Given the description of an element on the screen output the (x, y) to click on. 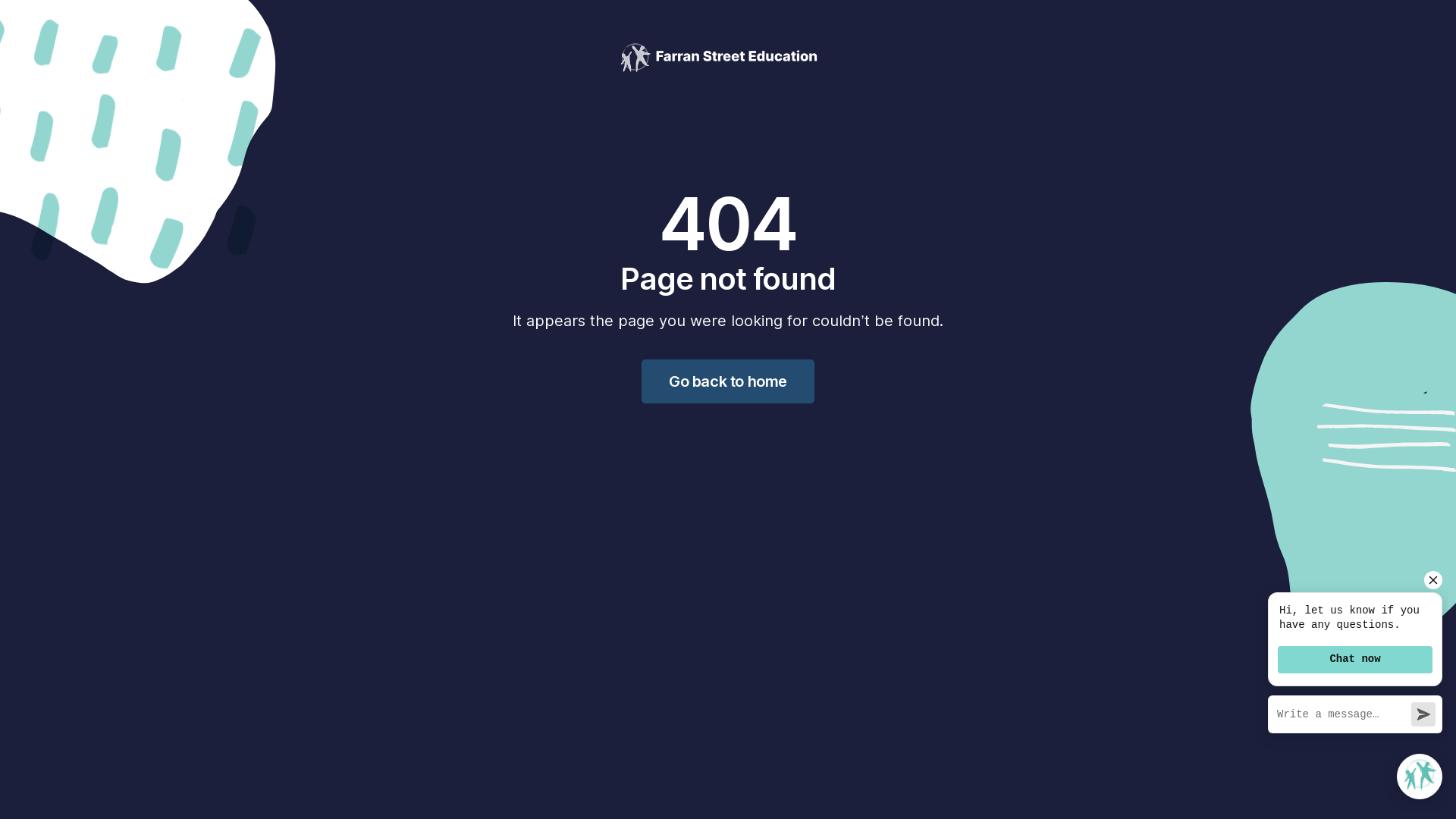
Go back to home Element type: text (727, 381)
LiveChat chat widget Element type: hover (1351, 687)
